Given the description of an element on the screen output the (x, y) to click on. 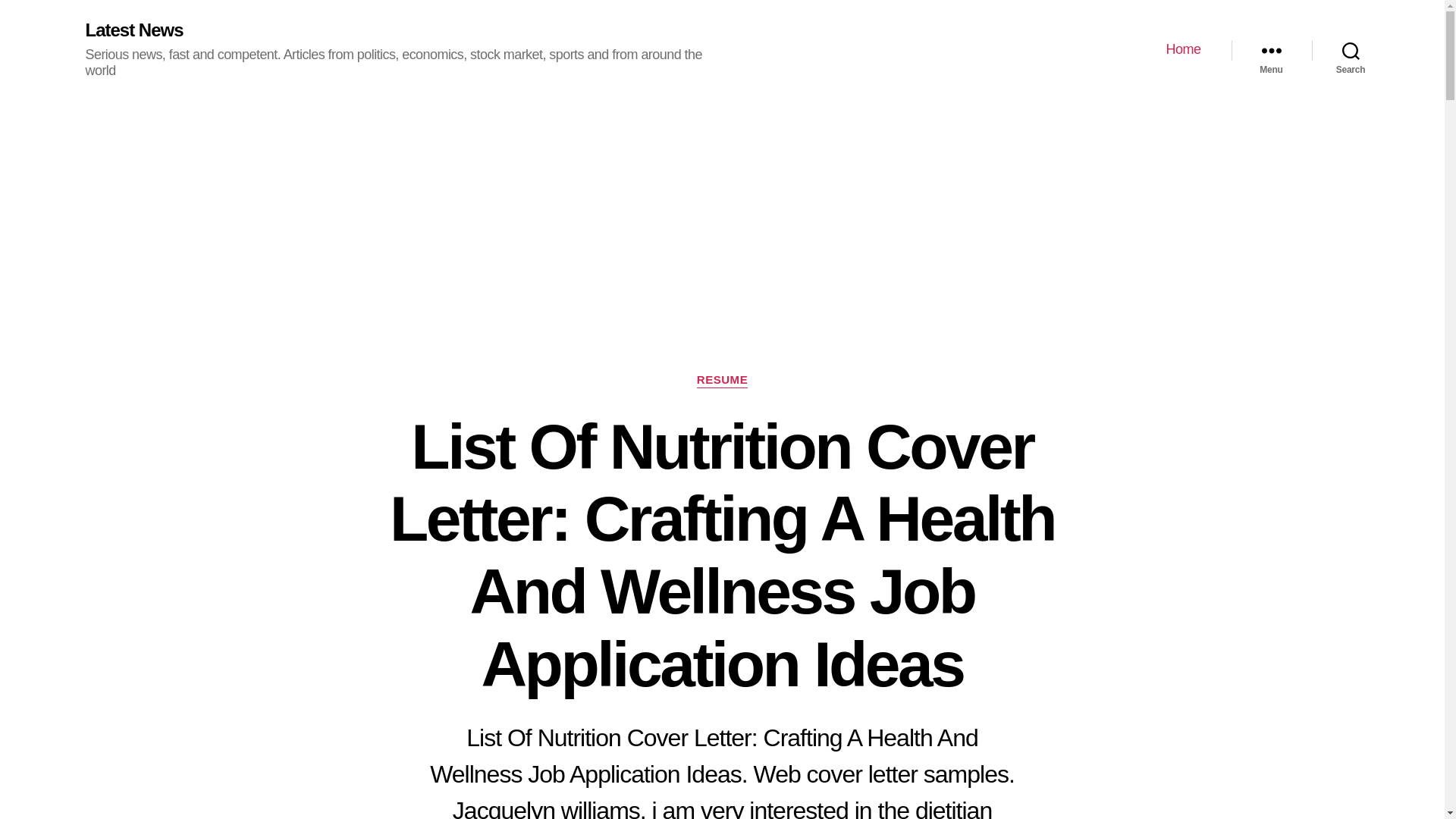
Menu (1271, 49)
Home (1182, 49)
Search (1350, 49)
Latest News (133, 30)
RESUME (722, 380)
